Given the description of an element on the screen output the (x, y) to click on. 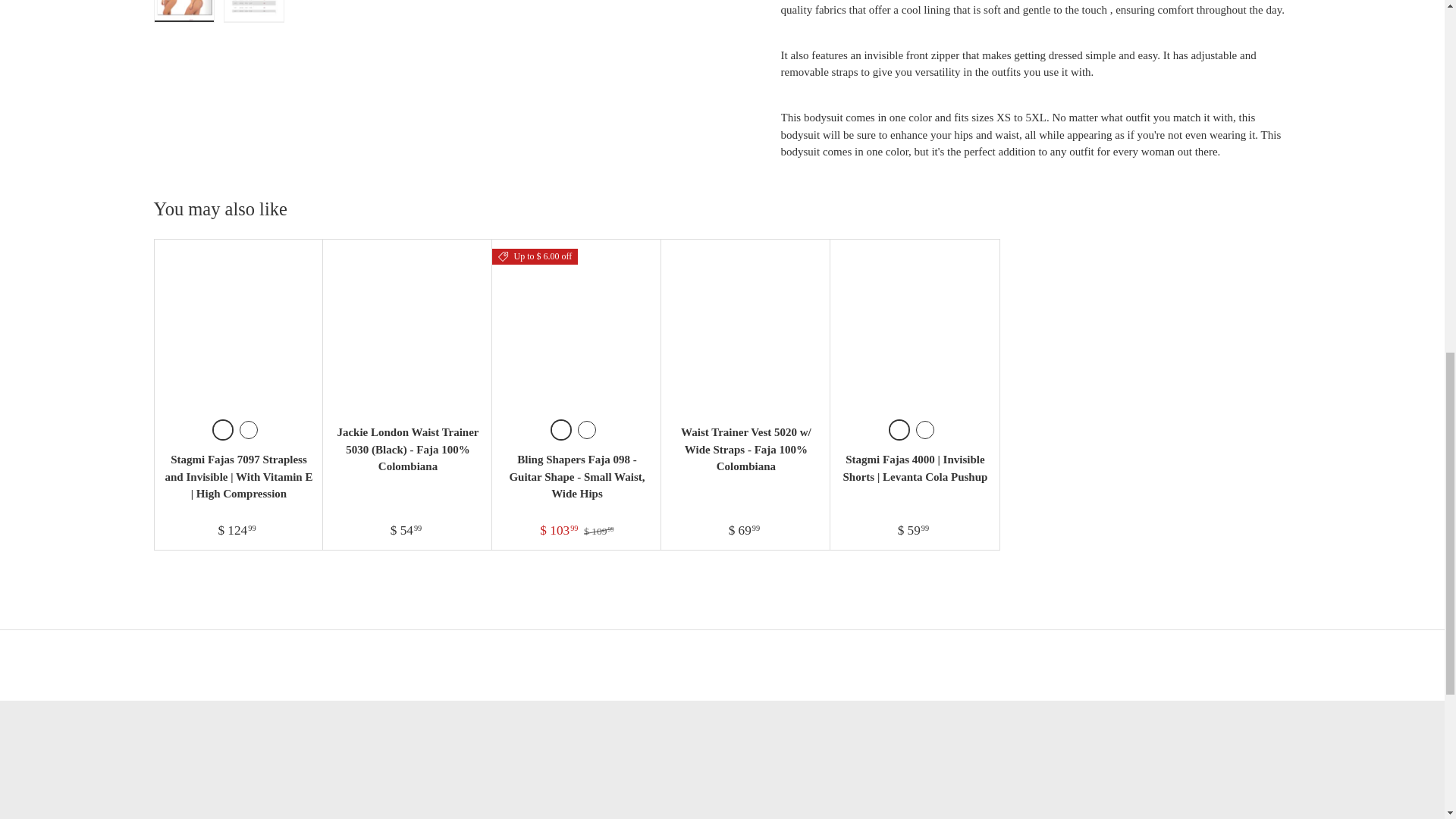
Black (924, 429)
Cocoa (586, 429)
Black (560, 429)
Black (222, 429)
Cocoa (898, 429)
Cocoa (248, 429)
